Given the description of an element on the screen output the (x, y) to click on. 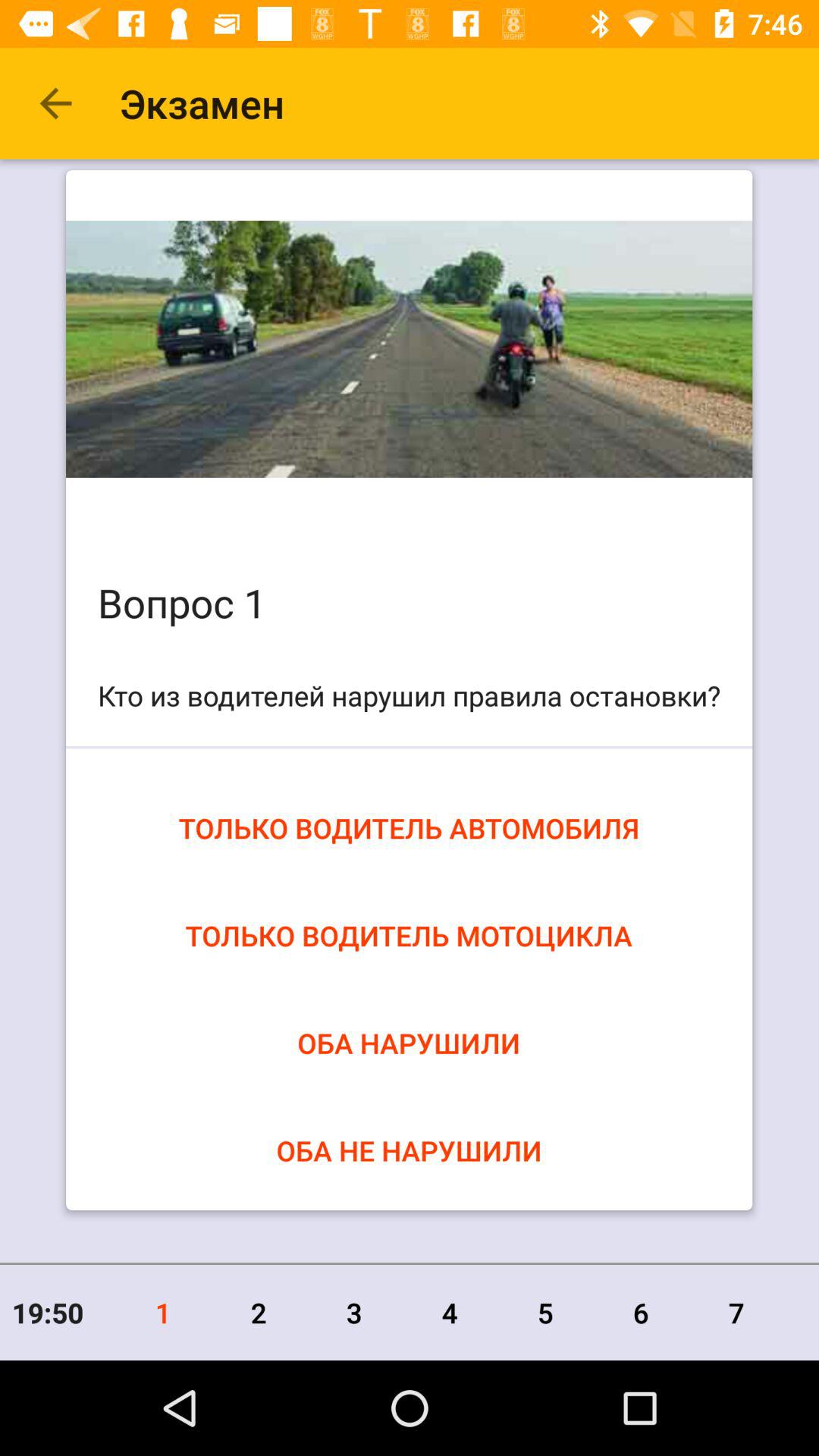
launch the icon next to the 4 icon (545, 1312)
